Given the description of an element on the screen output the (x, y) to click on. 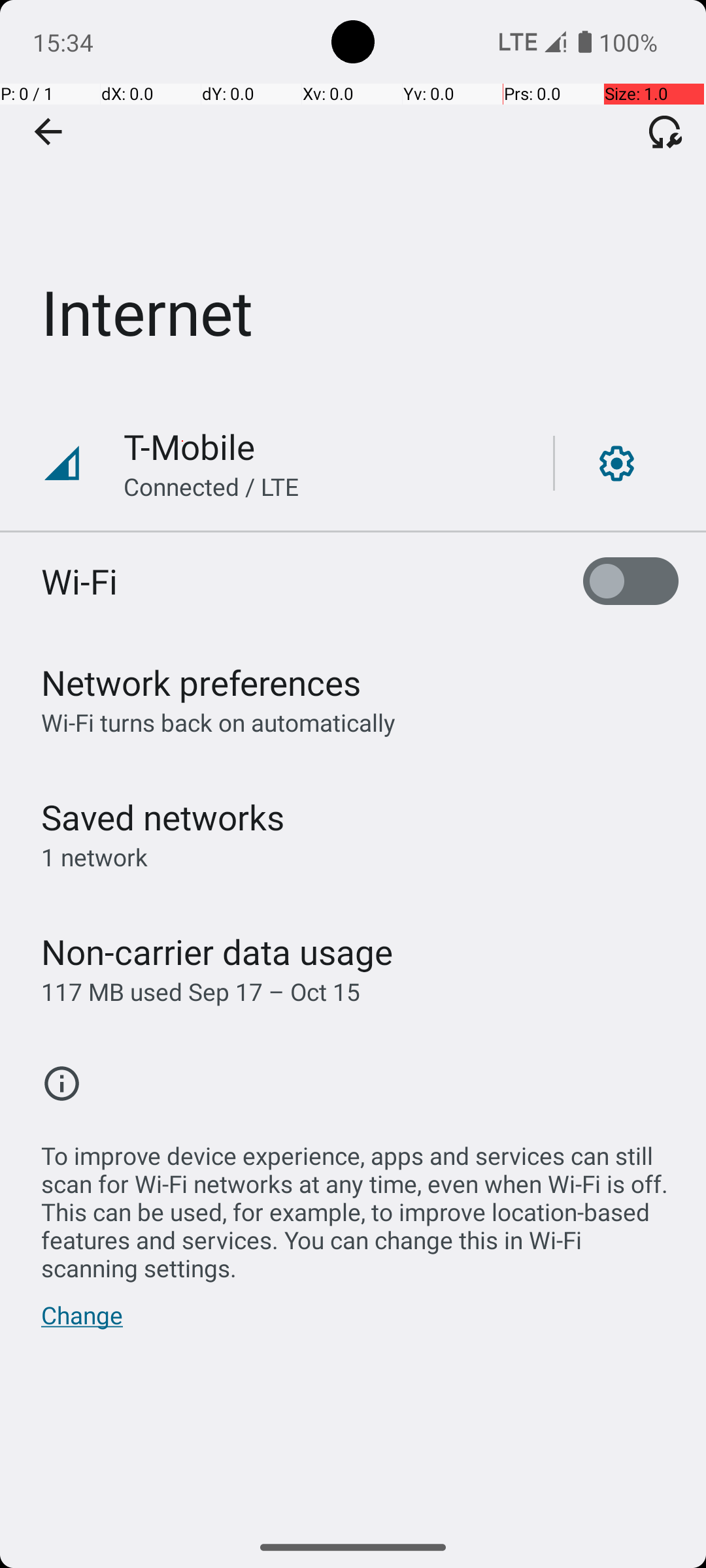
Fix connectivity Element type: android.widget.TextView (664, 131)
Connected / LTE Element type: android.widget.TextView (211, 486)
Wi-Fi Element type: android.widget.TextView (79, 580)
Network preferences Element type: android.widget.TextView (201, 682)
Wi‑Fi turns back on automatically Element type: android.widget.TextView (218, 721)
Saved networks Element type: android.widget.TextView (163, 816)
1 network Element type: android.widget.TextView (94, 856)
Non-carrier data usage Element type: android.widget.TextView (216, 951)
117 MB used Sep 17 – Oct 15 Element type: android.widget.TextView (200, 991)
To improve device experience, apps and services can still scan for Wi‑Fi networks at any time, even when Wi‑Fi is off. This can be used, for example, to improve location-based features and services. You can change this in Wi‑Fi scanning settings. Element type: android.widget.TextView (359, 1204)
Change Element type: android.widget.TextView (81, 1321)
